Given the description of an element on the screen output the (x, y) to click on. 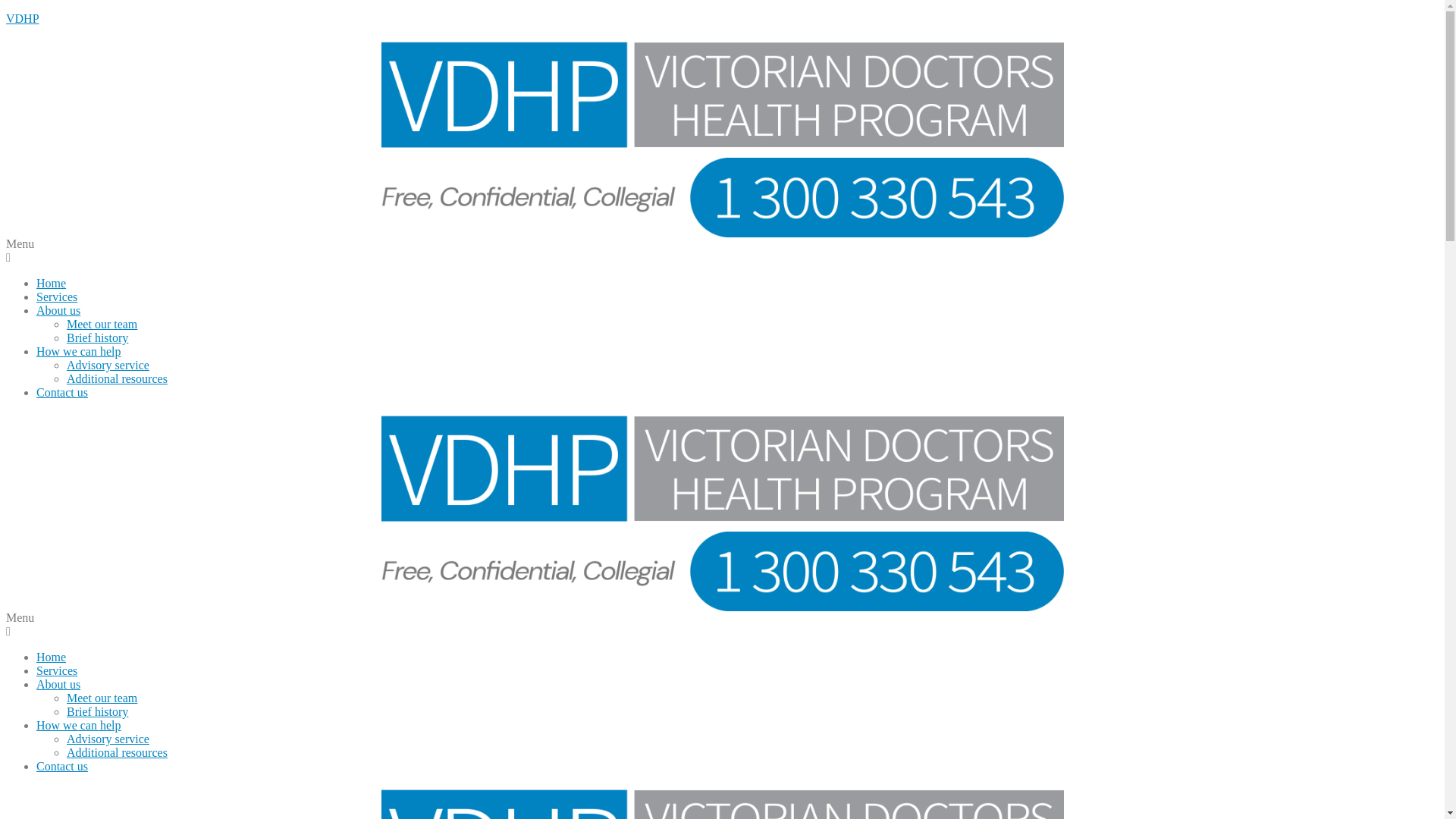
Additional resources Element type: text (116, 752)
Meet our team Element type: text (101, 697)
How we can help Element type: text (78, 351)
Home Element type: text (50, 656)
Home Element type: text (50, 282)
Contact us Element type: text (61, 765)
About us Element type: text (58, 310)
Meet our team Element type: text (101, 323)
Services Element type: text (56, 296)
Advisory service Element type: text (107, 738)
Contact us Element type: text (61, 391)
Brief history Element type: text (97, 337)
Brief history Element type: text (97, 711)
Advisory service Element type: text (107, 364)
Additional resources Element type: text (116, 378)
VDHP Element type: text (22, 18)
Services Element type: text (56, 670)
About us Element type: text (58, 683)
How we can help Element type: text (78, 724)
